Given the description of an element on the screen output the (x, y) to click on. 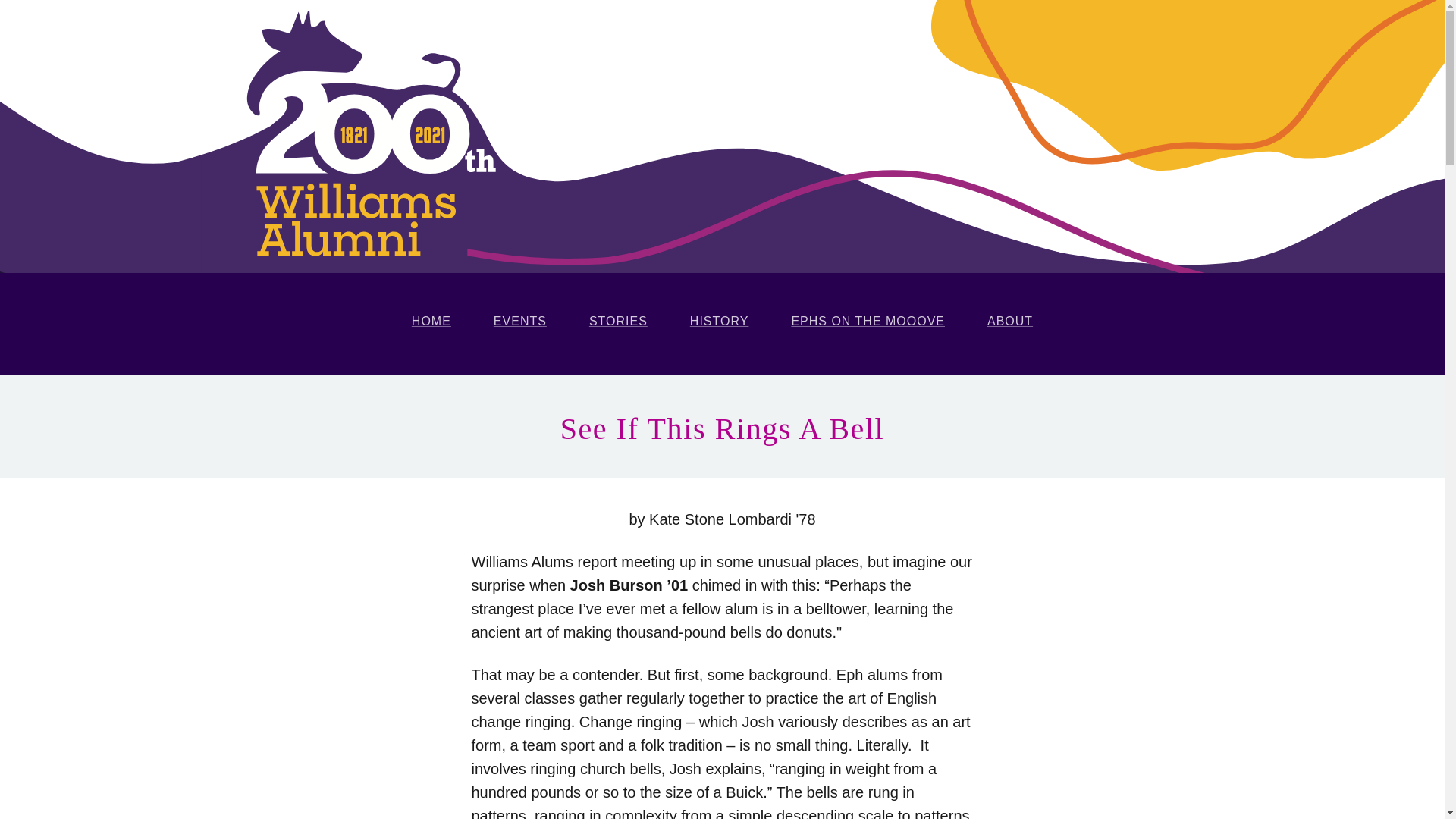
HISTORY (719, 321)
HOME (430, 321)
STORIES (617, 321)
EPHS ON THE MOOOVE (867, 321)
EVENTS (520, 321)
ABOUT (1010, 321)
